Given the description of an element on the screen output the (x, y) to click on. 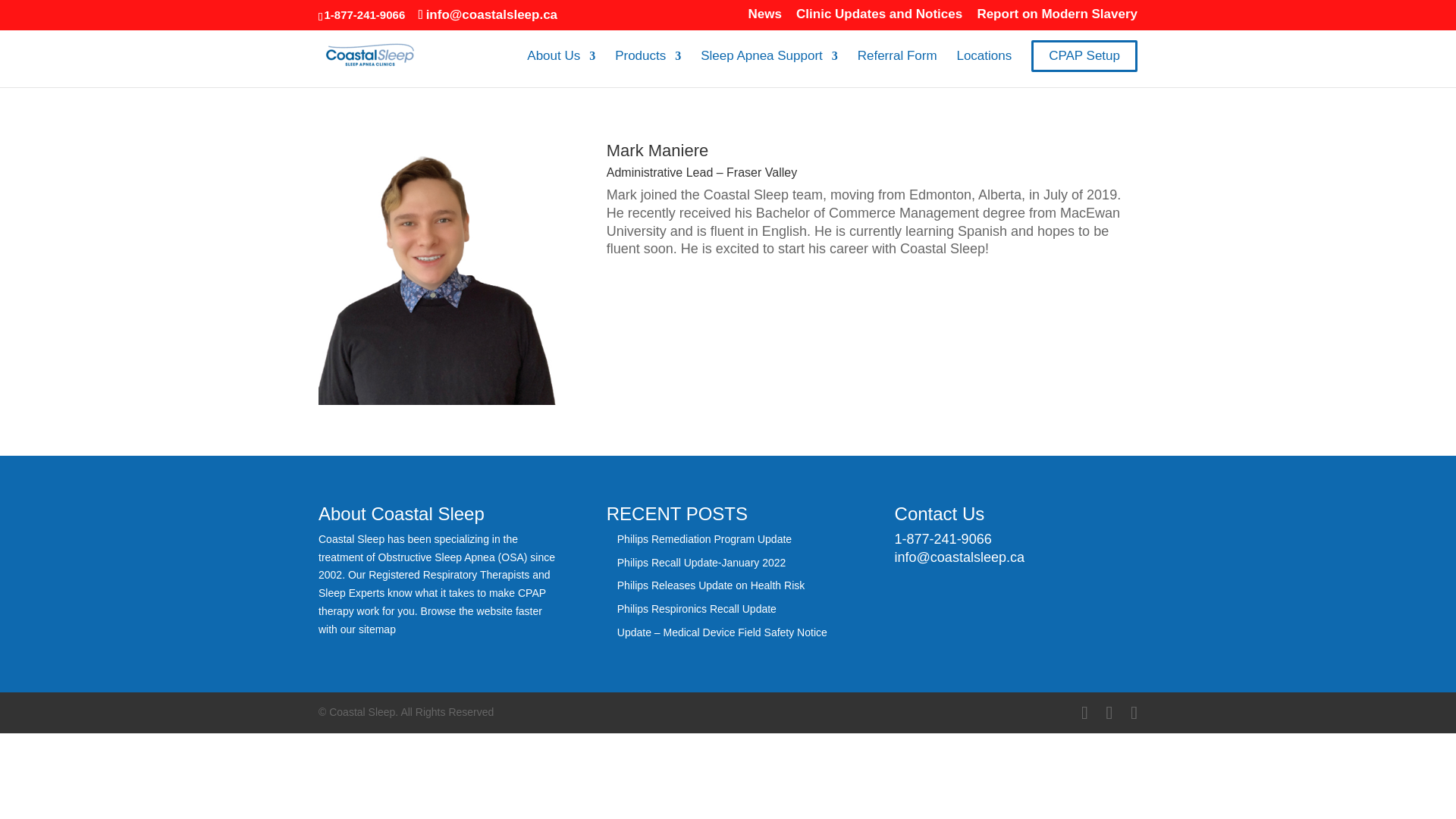
Sleep Apnea Support (769, 67)
Locations (983, 67)
Clinic Updates and Notices (879, 18)
CPAP Setup (1083, 56)
Products (647, 67)
News (764, 18)
Report on Modern Slavery (1056, 18)
Referral Form (897, 67)
About Us (561, 67)
